Given the description of an element on the screen output the (x, y) to click on. 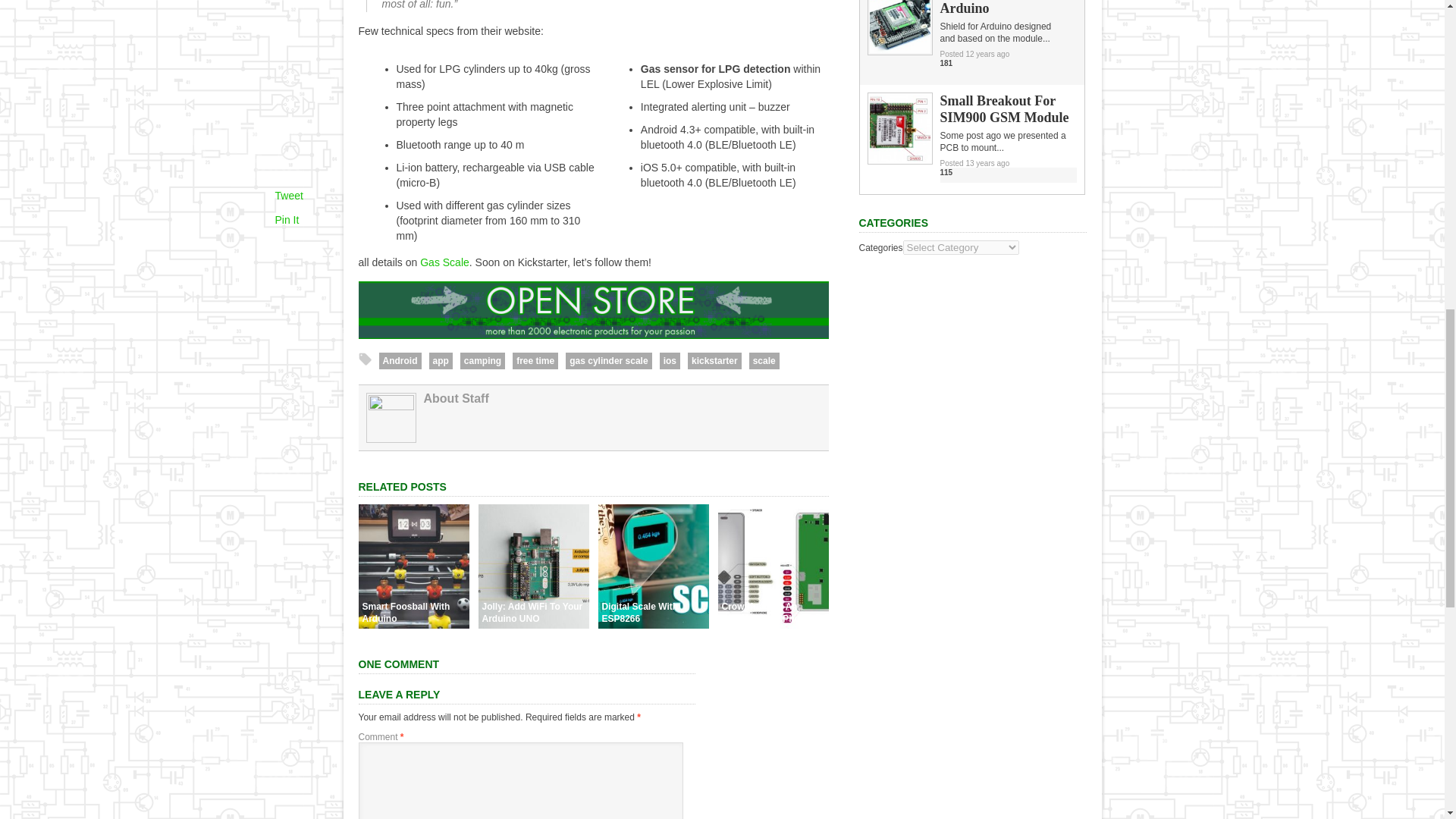
GSM GPS shield for Arduino (899, 50)
Crowdfunding an ESP32-Based Phone (772, 624)
Gas Scale (444, 262)
Smart foosball with Arduino (413, 624)
Small Breakout for SIM900 GSM Module (899, 158)
Digital scale with ESP8266 (651, 624)
Jolly: add WiFi to your Arduino UNO (532, 624)
